Given the description of an element on the screen output the (x, y) to click on. 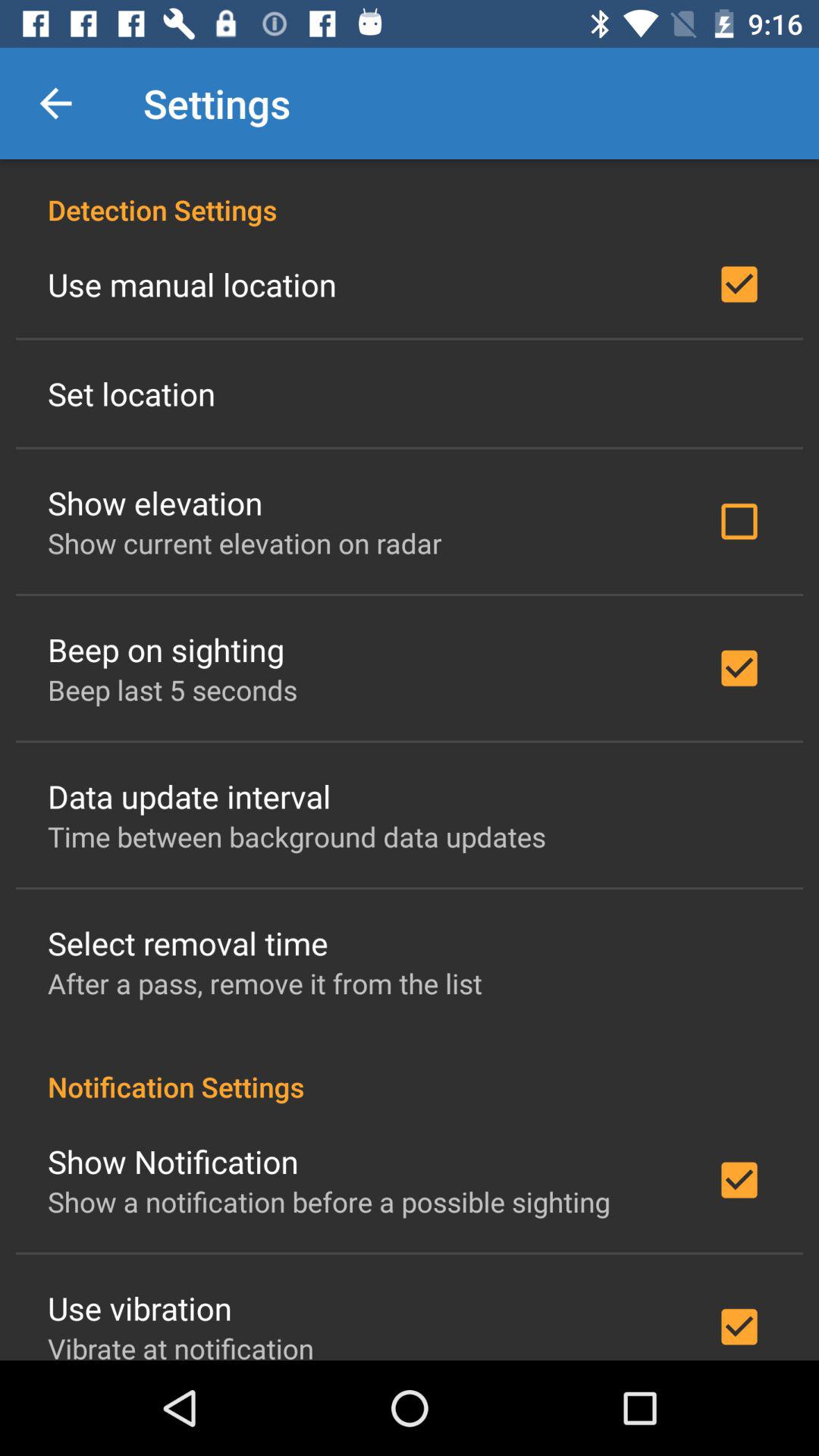
open beep last 5 item (172, 689)
